Given the description of an element on the screen output the (x, y) to click on. 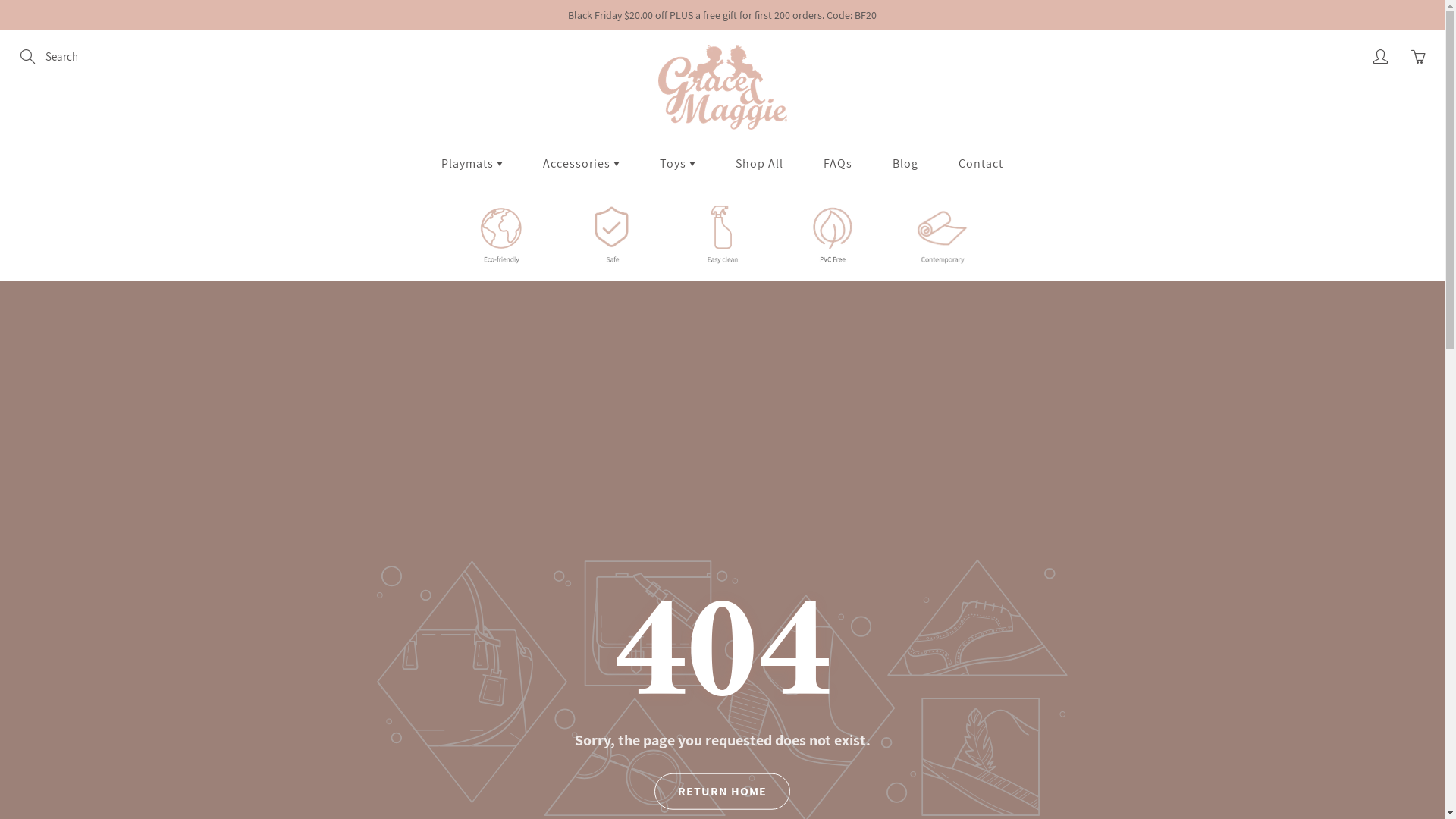
Toys Element type: text (677, 163)
You have 0 items in your cart Element type: text (1417, 56)
My account Element type: text (1379, 56)
Search Element type: text (28, 56)
Contact Element type: text (980, 163)
Accessories Element type: text (581, 163)
Shop All Element type: text (759, 163)
Playmats Element type: text (471, 163)
Blog Element type: text (905, 163)
RETURN HOME Element type: text (722, 791)
FAQs Element type: text (837, 163)
